Given the description of an element on the screen output the (x, y) to click on. 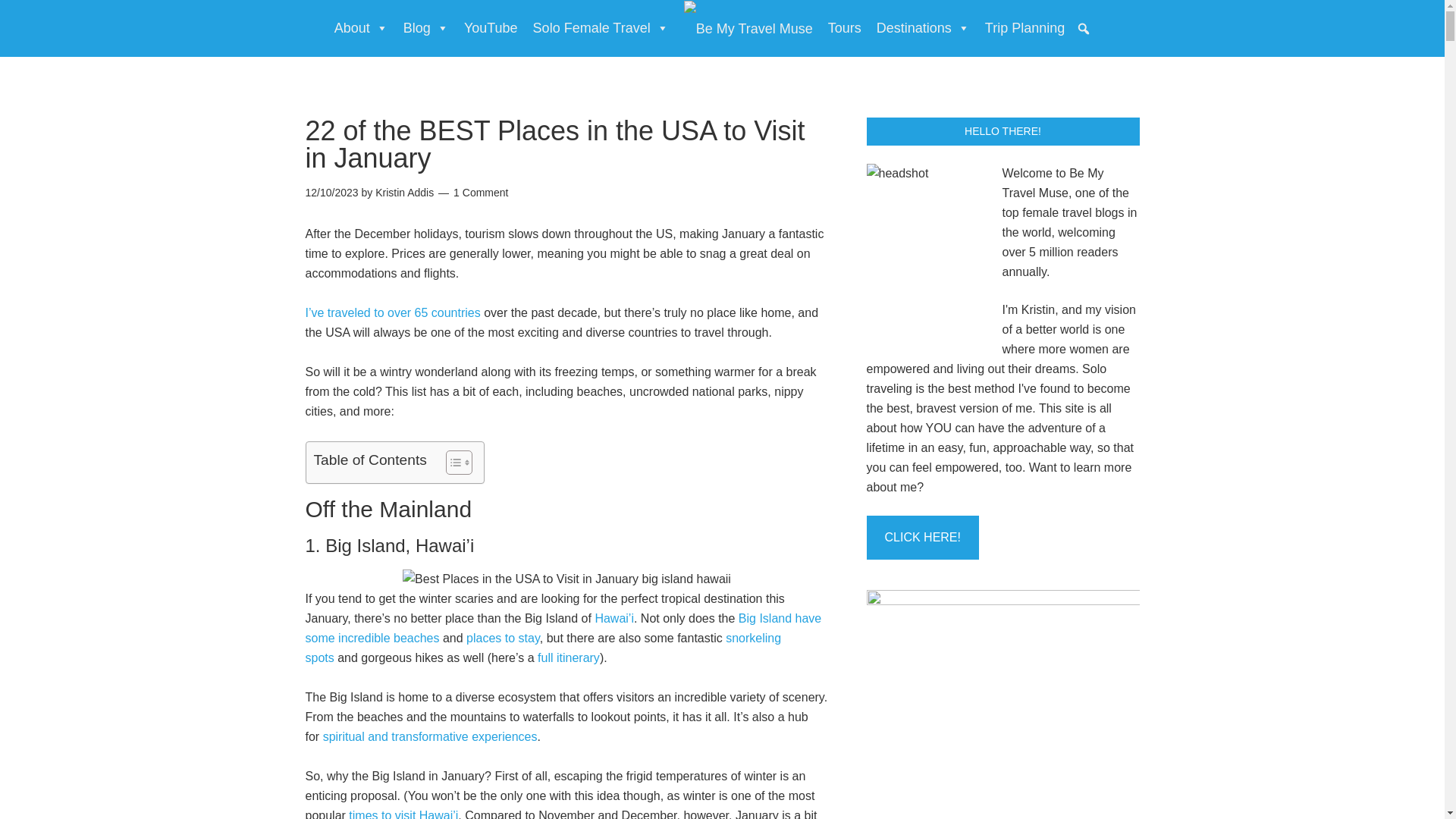
Blog (426, 28)
About (361, 28)
Read more (922, 537)
Destinations (922, 28)
Solo Female Travel (601, 28)
YouTube (491, 28)
